Given the description of an element on the screen output the (x, y) to click on. 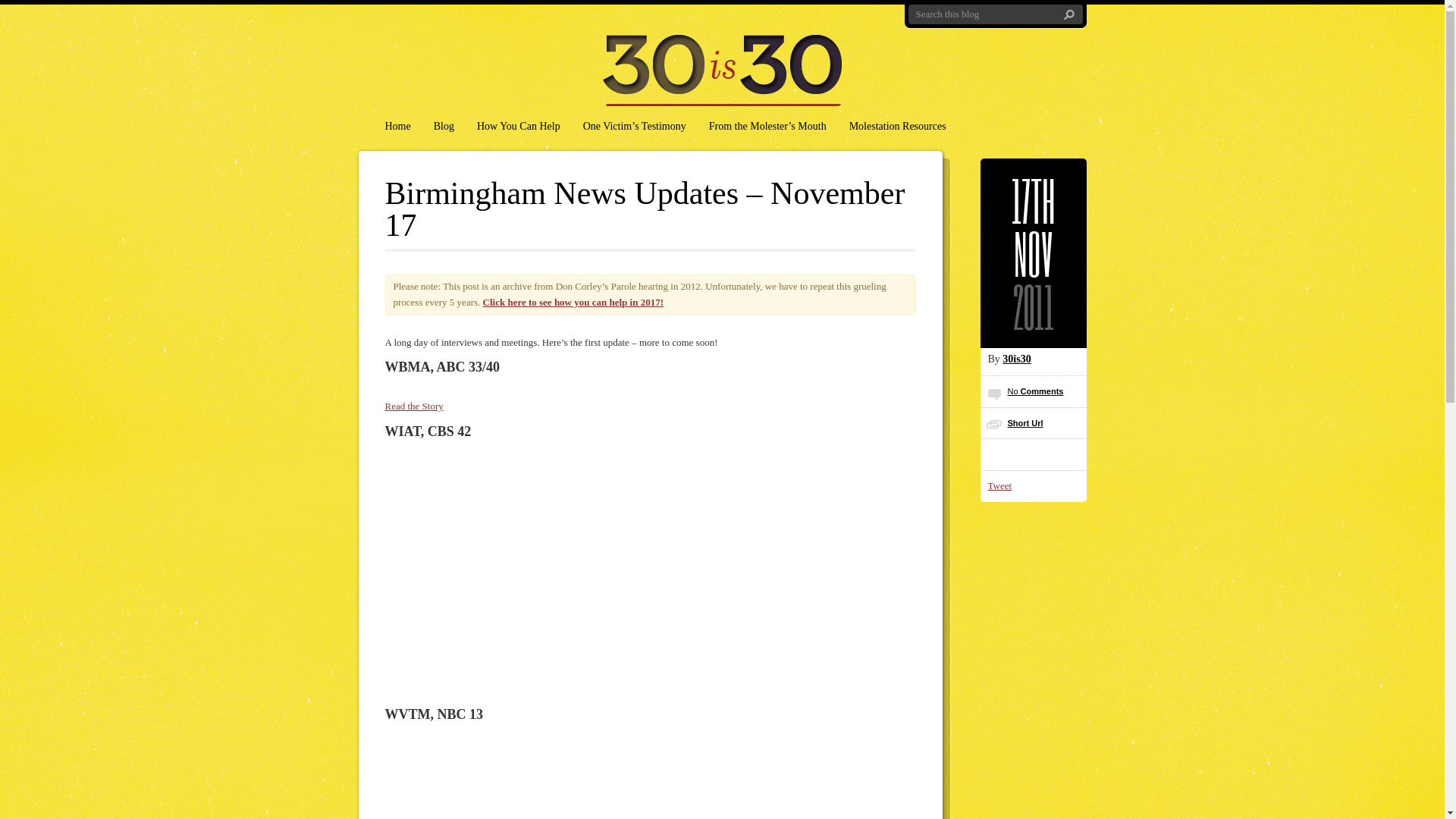
Molestation Resources Element type: text (897, 126)
Read the Story Element type: text (414, 405)
Tweet Element type: text (999, 485)
Blog Element type: text (443, 126)
Click here to see how you can help in 2017! Element type: text (573, 301)
Search Element type: text (1069, 14)
Short Url Element type: text (1024, 422)
How You Can Help Element type: text (518, 126)
Home Element type: text (397, 126)
30is30 Element type: text (1016, 358)
No Comments Element type: text (1035, 390)
